Given the description of an element on the screen output the (x, y) to click on. 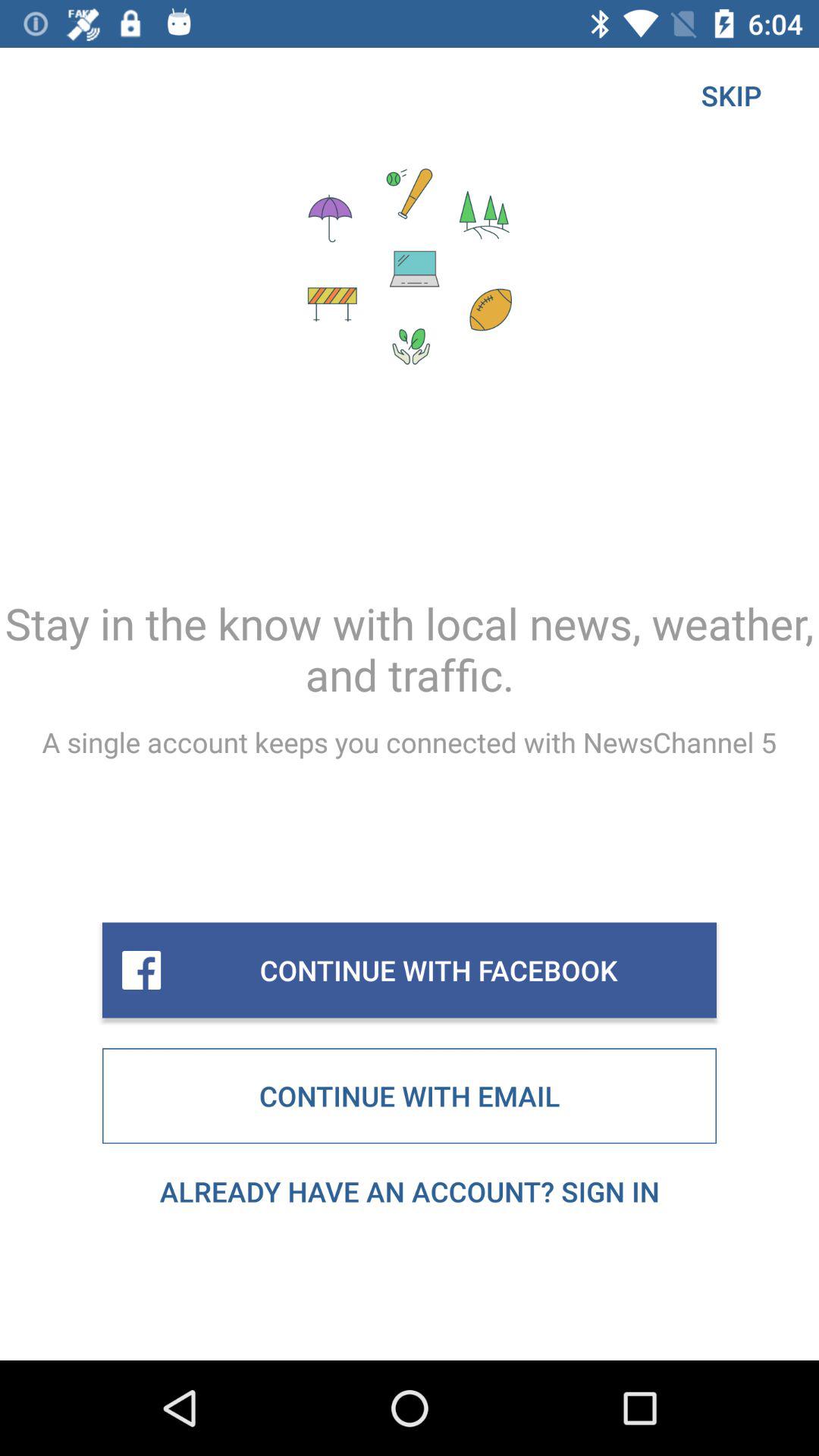
launch skip (731, 95)
